Given the description of an element on the screen output the (x, y) to click on. 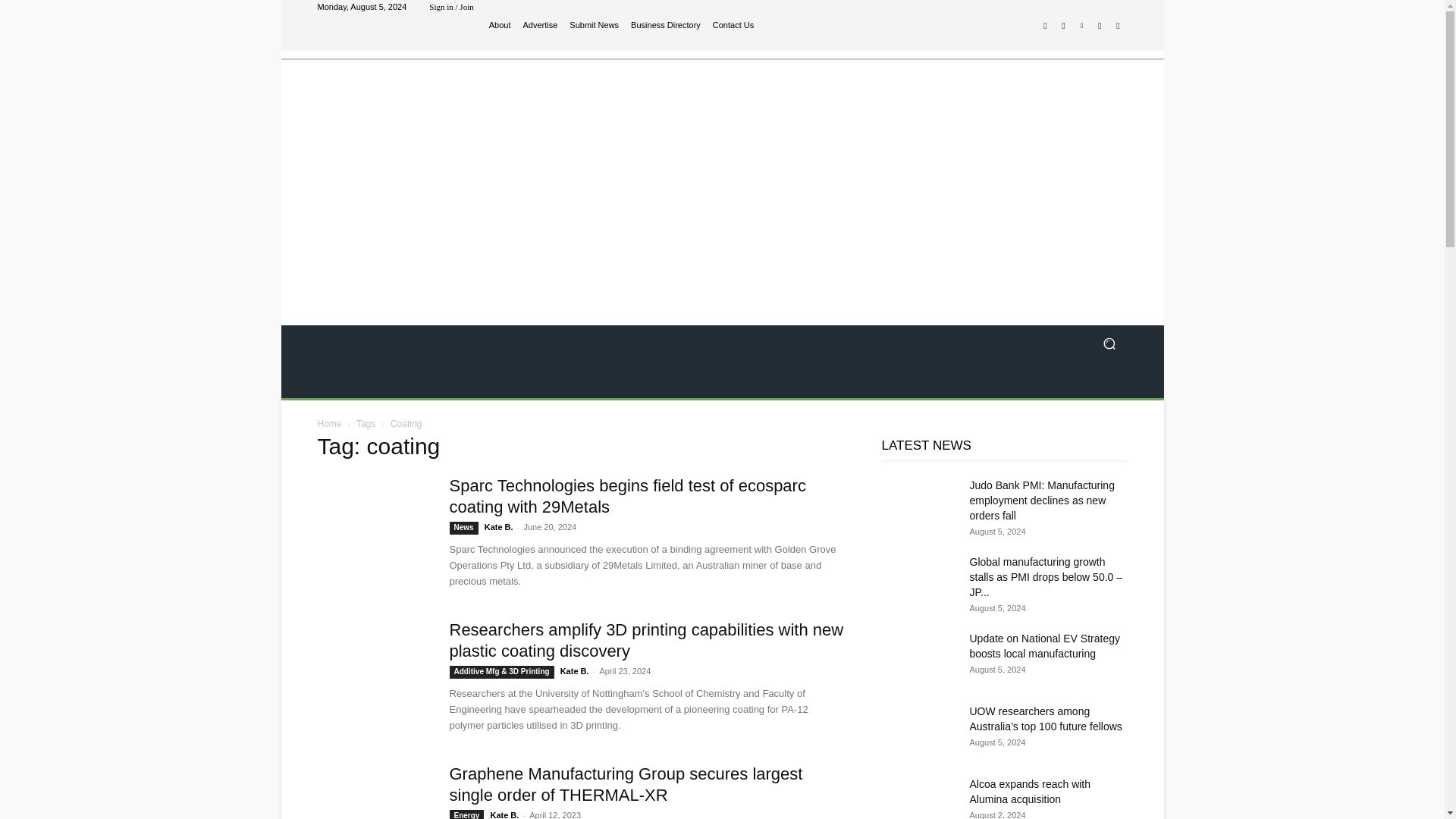
Twitter (1117, 25)
3rd party ad content (849, 190)
Contact Us (733, 25)
Submit News (593, 25)
Linkedin (1080, 25)
Instagram (1062, 25)
RSS (1099, 25)
Advertise (539, 25)
Facebook (1044, 25)
About (500, 25)
Business Directory (665, 25)
Australian Manufacturing (425, 170)
